Given the description of an element on the screen output the (x, y) to click on. 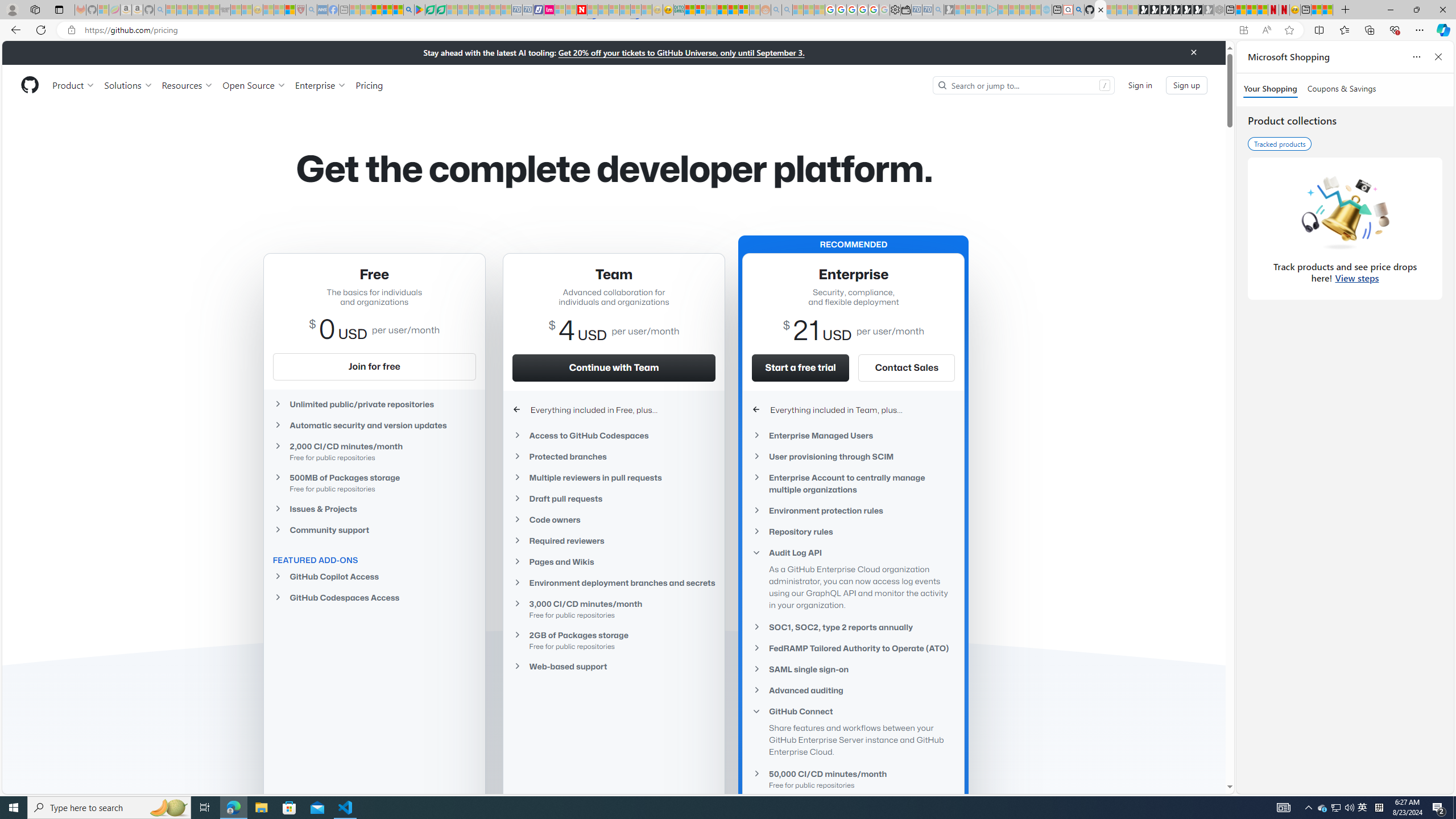
Pages and Wikis (614, 561)
Required reviewers (614, 540)
Solutions (128, 84)
App available. Install GitHub (1243, 29)
Draft pull requests (614, 498)
Microsoft Word - consumer-privacy address update 2.2021 (440, 9)
Solutions (128, 84)
Open Source (254, 84)
Issues & Projects (374, 508)
GitHub Codespaces Access (374, 597)
